Given the description of an element on the screen output the (x, y) to click on. 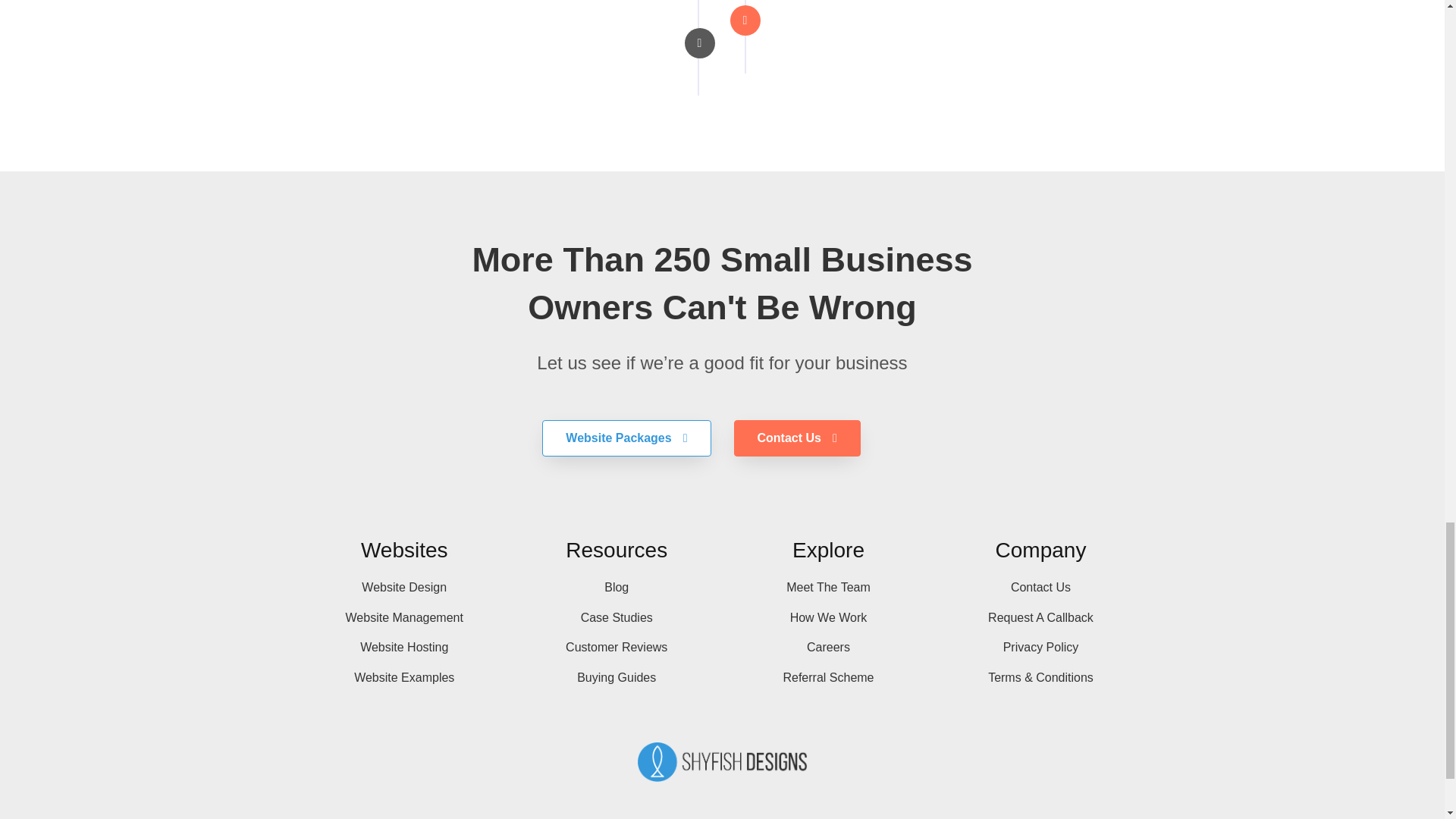
Contact Us (796, 438)
Customer Reviews (616, 647)
Case Studies (616, 617)
Website Hosting (404, 647)
Meet The Team (828, 587)
Website Examples (404, 677)
Website Management (404, 617)
Blog (616, 587)
Buying Guides (616, 677)
Website Design (404, 587)
